Given the description of an element on the screen output the (x, y) to click on. 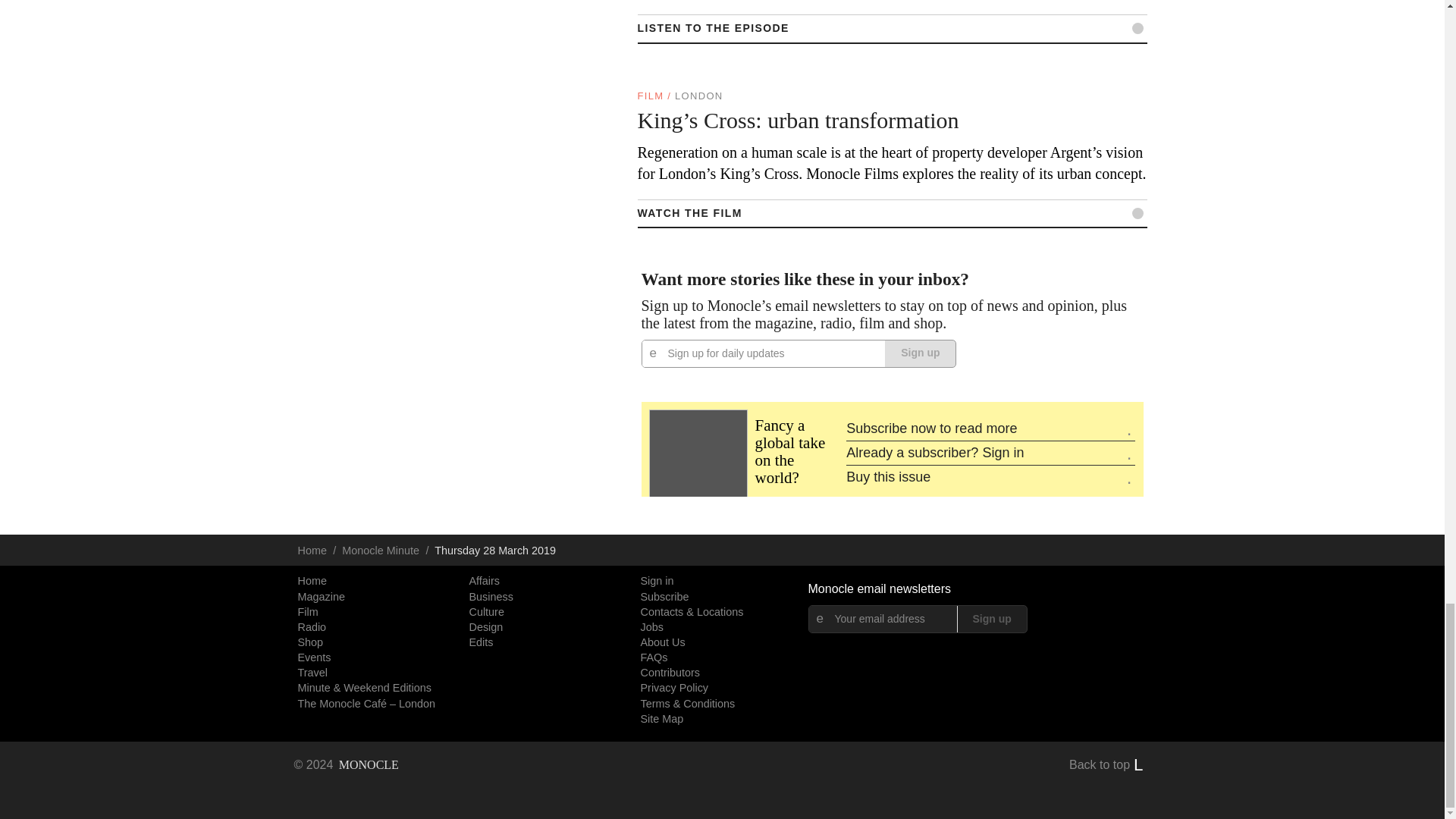
Go to home (346, 764)
